Given the description of an element on the screen output the (x, y) to click on. 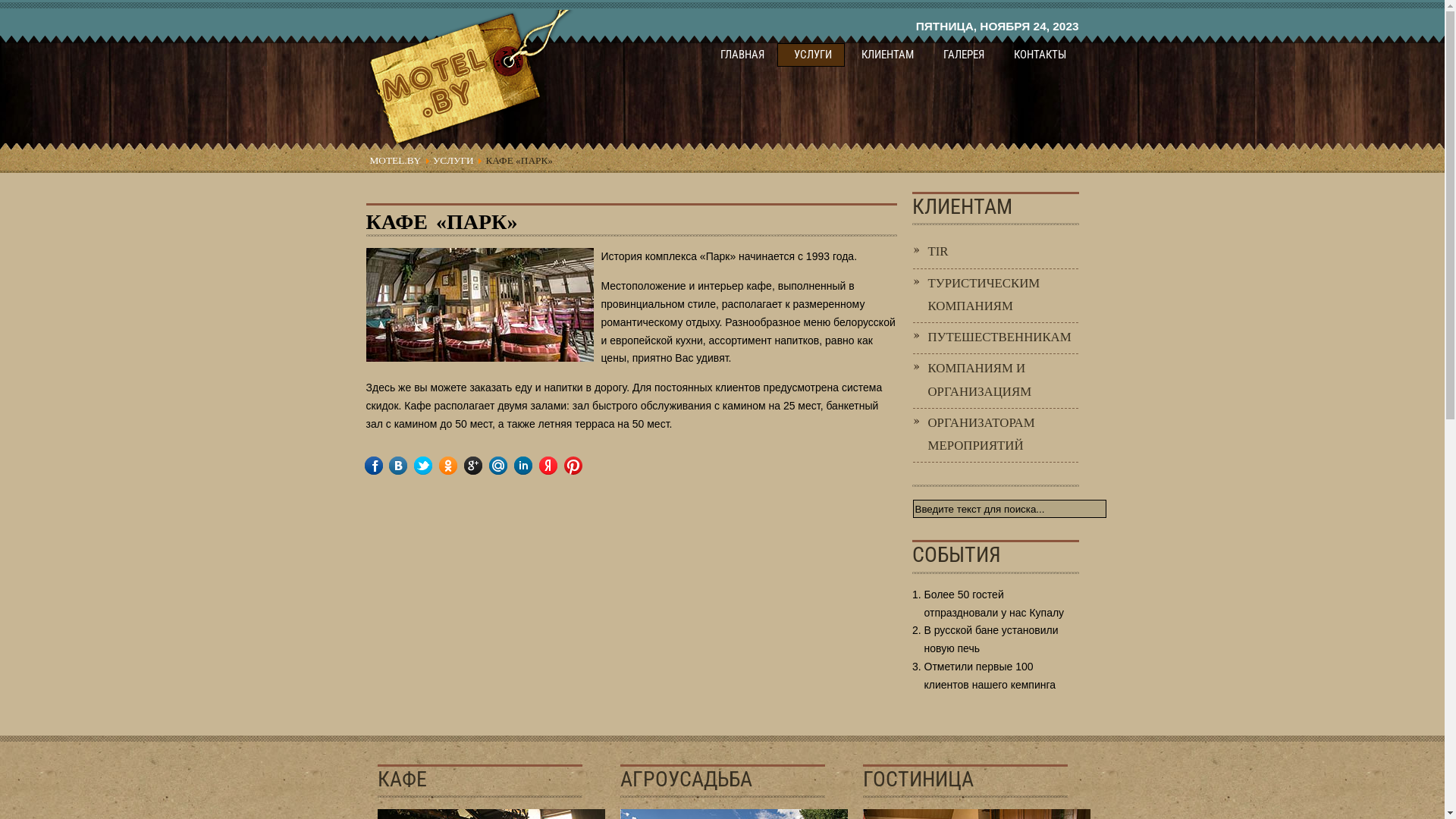
LinkedIn Element type: hover (534, 465)
Twitter Element type: hover (434, 465)
Pinterest Element type: hover (584, 465)
TIR Element type: text (995, 252)
MOTEL.BY Element type: text (395, 160)
Google+ Element type: hover (484, 465)
FaceBook Element type: hover (384, 465)
